Given the description of an element on the screen output the (x, y) to click on. 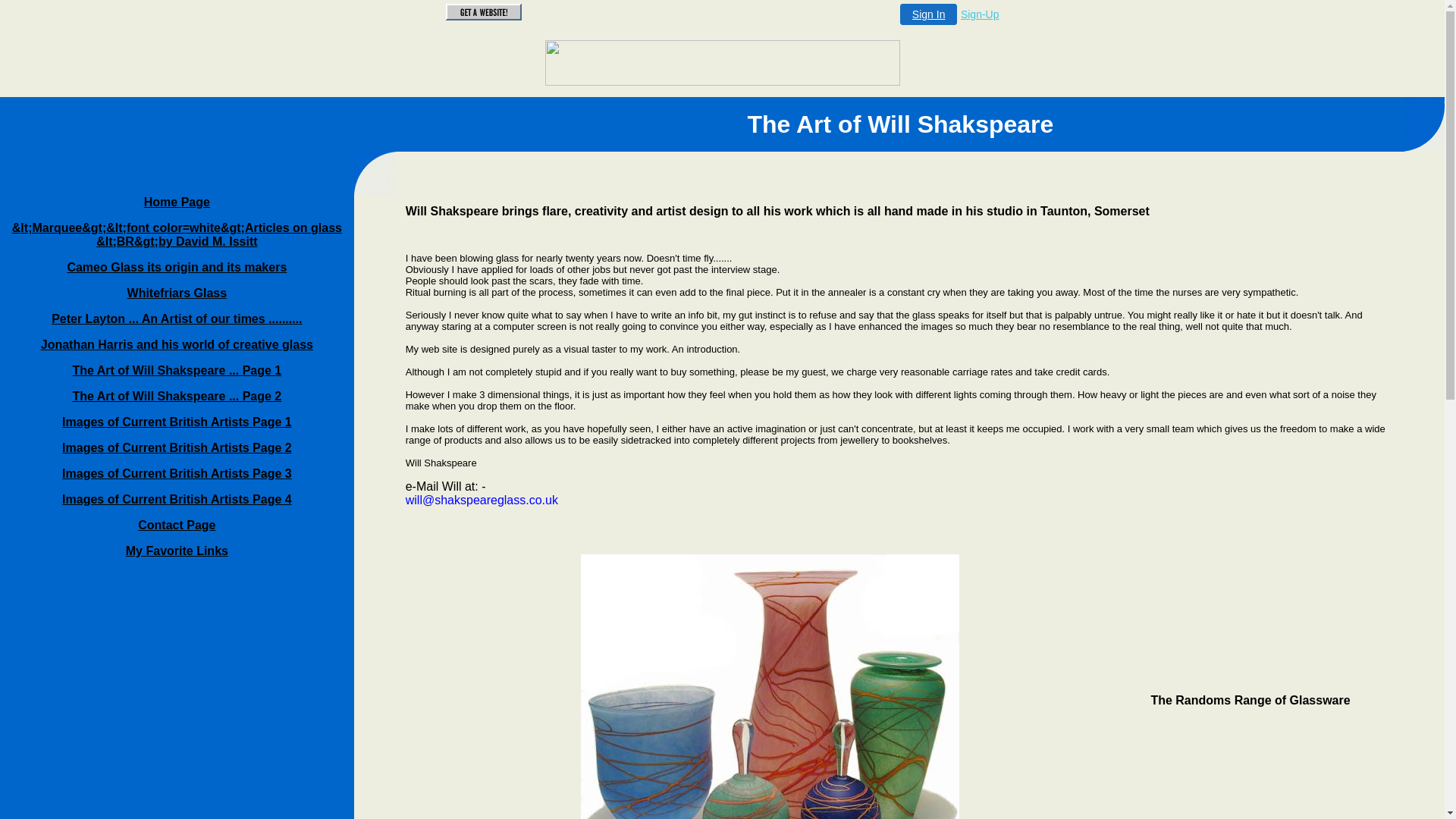
Sign In Element type: text (928, 14)
Images of Current British Artists Page 1 Element type: text (176, 421)
Home Page Element type: text (177, 201)
Images of Current British Artists Page 3 Element type: text (176, 473)
Jonathan Harris and his world of creative glass Element type: text (176, 344)
Contact Page Element type: text (176, 524)
The Art of Will Shakspeare ... Page 1 Element type: text (176, 370)
Images of Current British Artists Page 4 Element type: text (176, 498)
Images of Current British Artists Page 2 Element type: text (176, 447)
My Favorite Links Element type: text (176, 550)
Whitefriars Glass Element type: text (177, 292)
Peter Layton ... An Artist of our times .......... Element type: text (176, 318)
Sign-Up Element type: text (979, 14)
The Art of Will Shakspeare ... Page 2 Element type: text (176, 395)
Cameo Glass its origin and its makers Element type: text (176, 266)
